Given the description of an element on the screen output the (x, y) to click on. 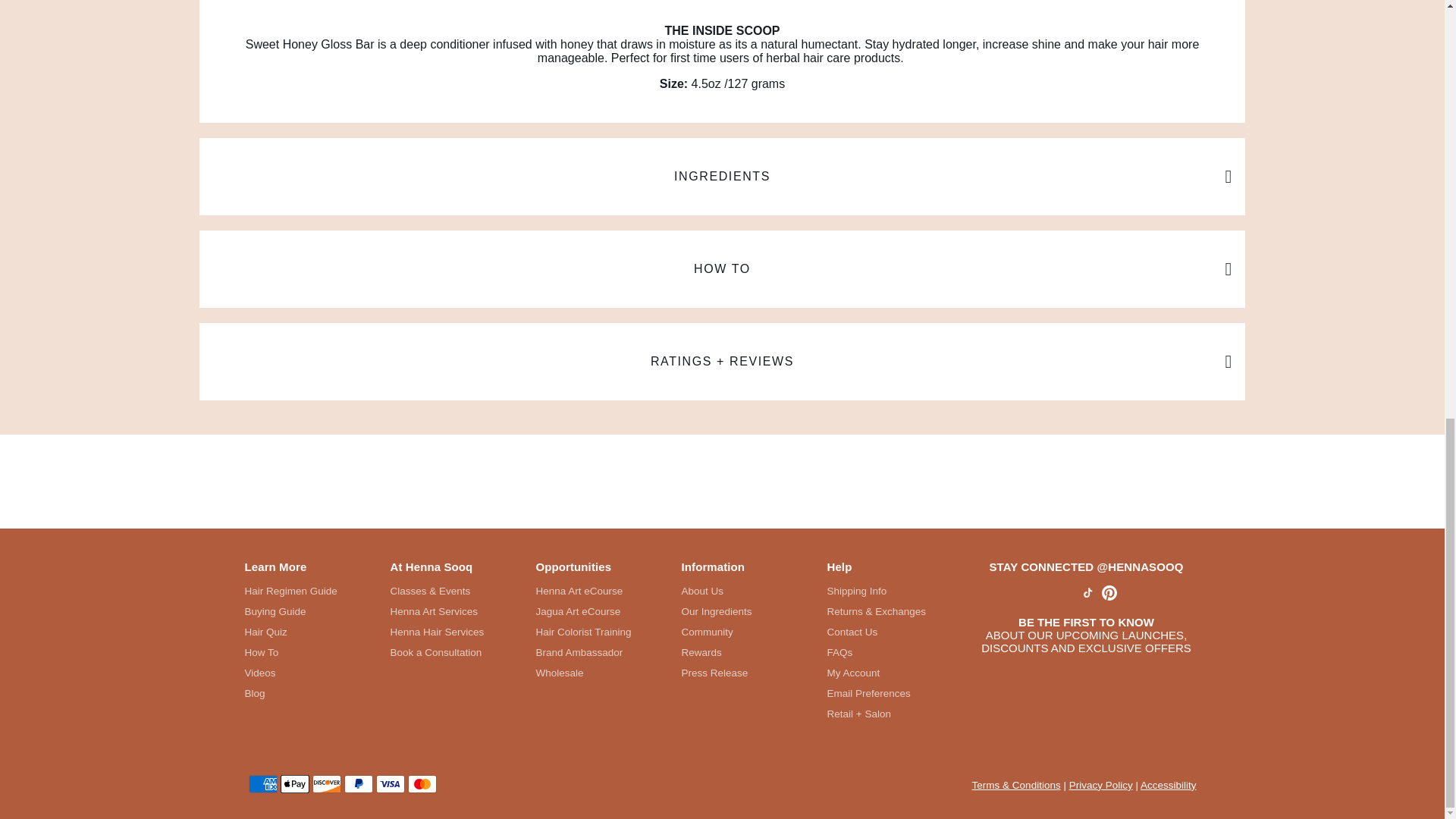
American Express (263, 783)
Discover (326, 783)
Mastercard (421, 783)
PayPal (357, 783)
Accessibility (1168, 785)
Visa (389, 783)
Apple Pay (294, 783)
Hair Quiz (290, 632)
How To (290, 652)
Buying Guide (290, 611)
Hair Regimen Guide (290, 591)
